Given the description of an element on the screen output the (x, y) to click on. 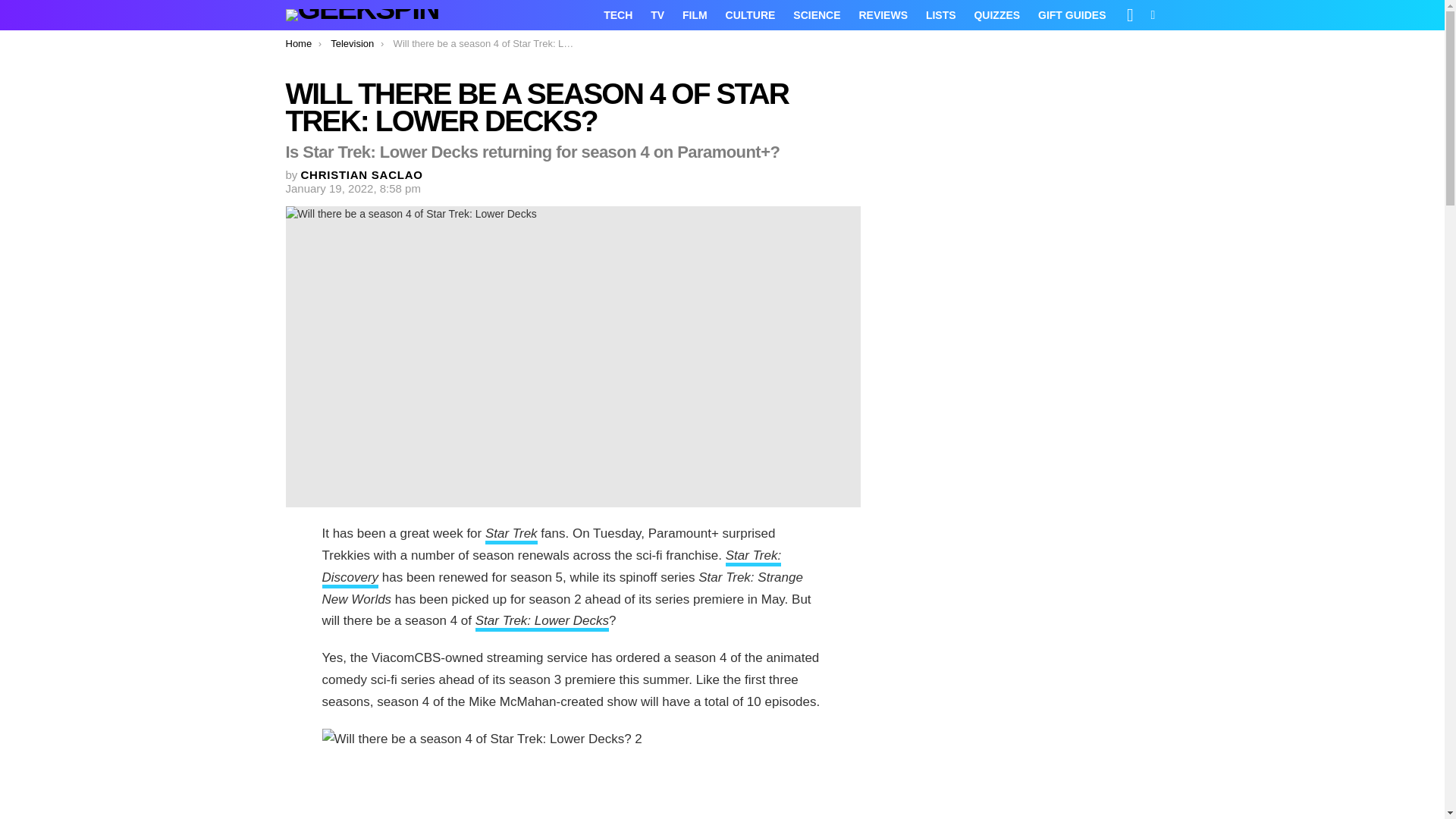
Home (298, 43)
SCIENCE (816, 15)
TECH (617, 15)
CHRISTIAN SACLAO (362, 174)
Star Trek (510, 535)
GIFT GUIDES (1071, 15)
Will there be a season 4 of Star Trek: Lower Decks? 3 (572, 773)
FILM (694, 15)
Posts by Christian Saclao (362, 174)
QUIZZES (996, 15)
Star Trek: Lower Decks (542, 622)
CULTURE (750, 15)
Television (352, 43)
LISTS (940, 15)
